Given the description of an element on the screen output the (x, y) to click on. 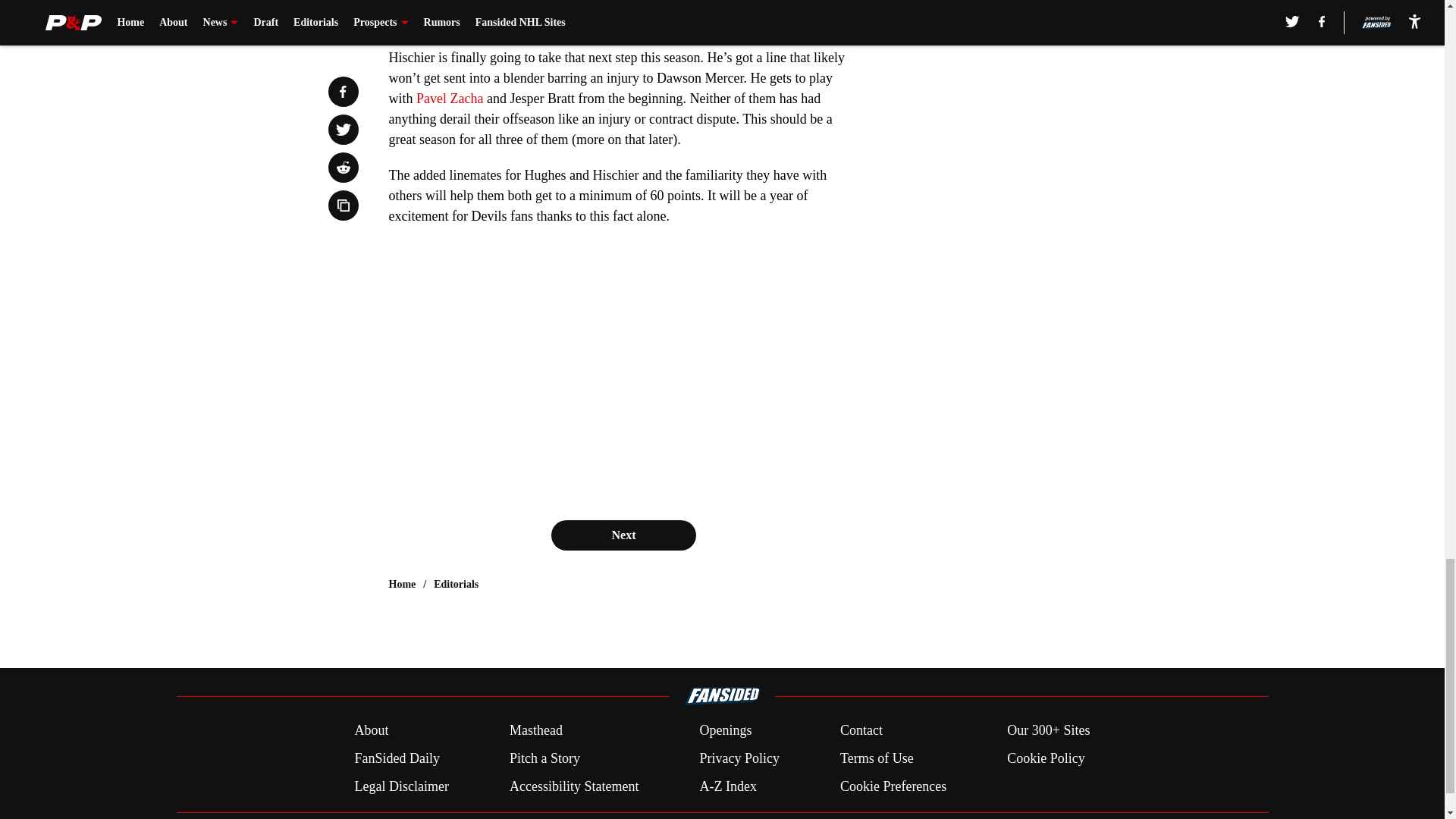
Editorials (456, 584)
Masthead (535, 730)
Home (401, 584)
Pavel Zacha (449, 98)
About (370, 730)
Openings (724, 730)
Pitch a Story (544, 758)
FanSided Daily (396, 758)
Next (622, 535)
Contact (861, 730)
